Given the description of an element on the screen output the (x, y) to click on. 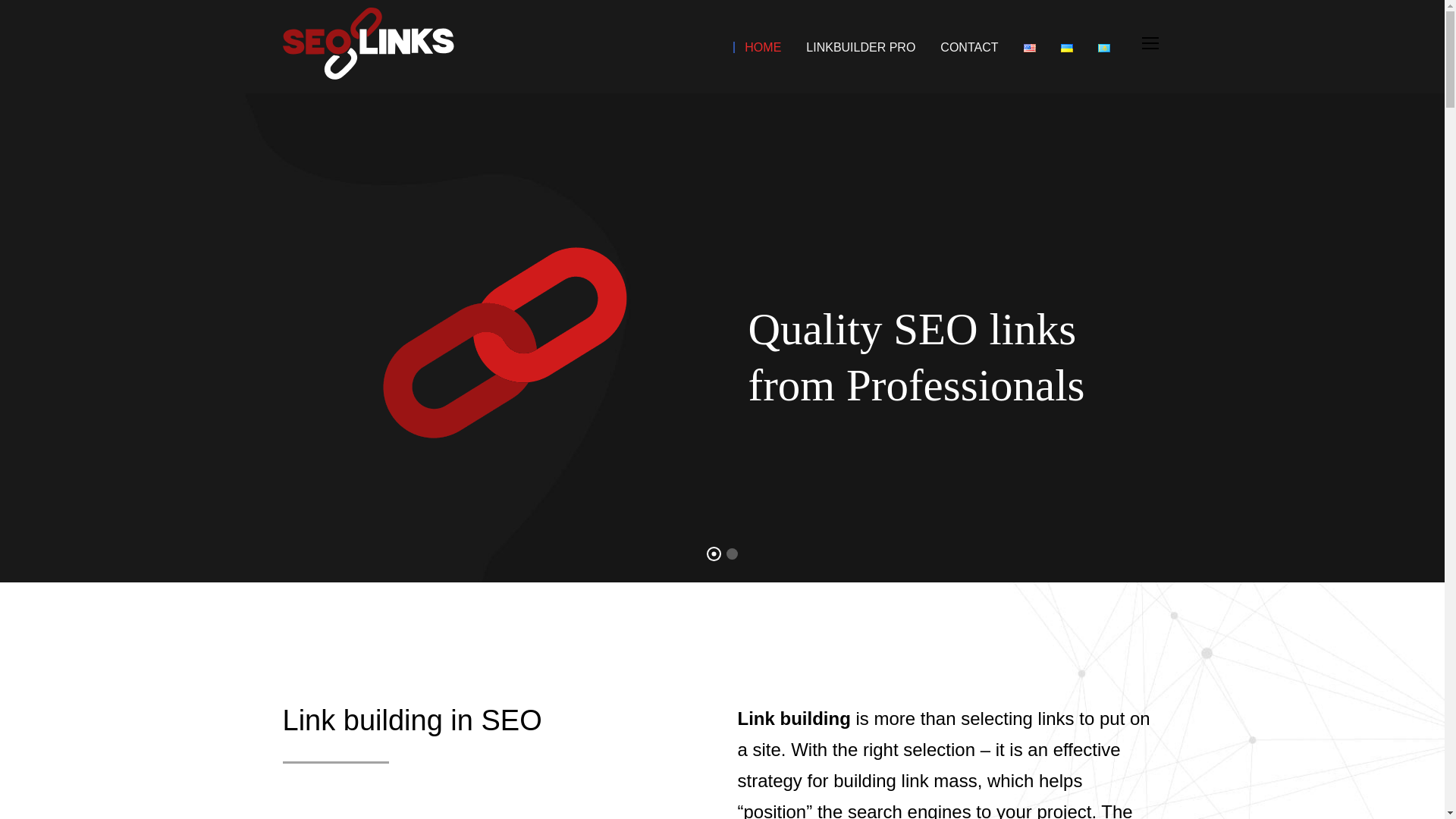
LINKBUILDER PRO (854, 64)
CONTACT (962, 64)
